Given the description of an element on the screen output the (x, y) to click on. 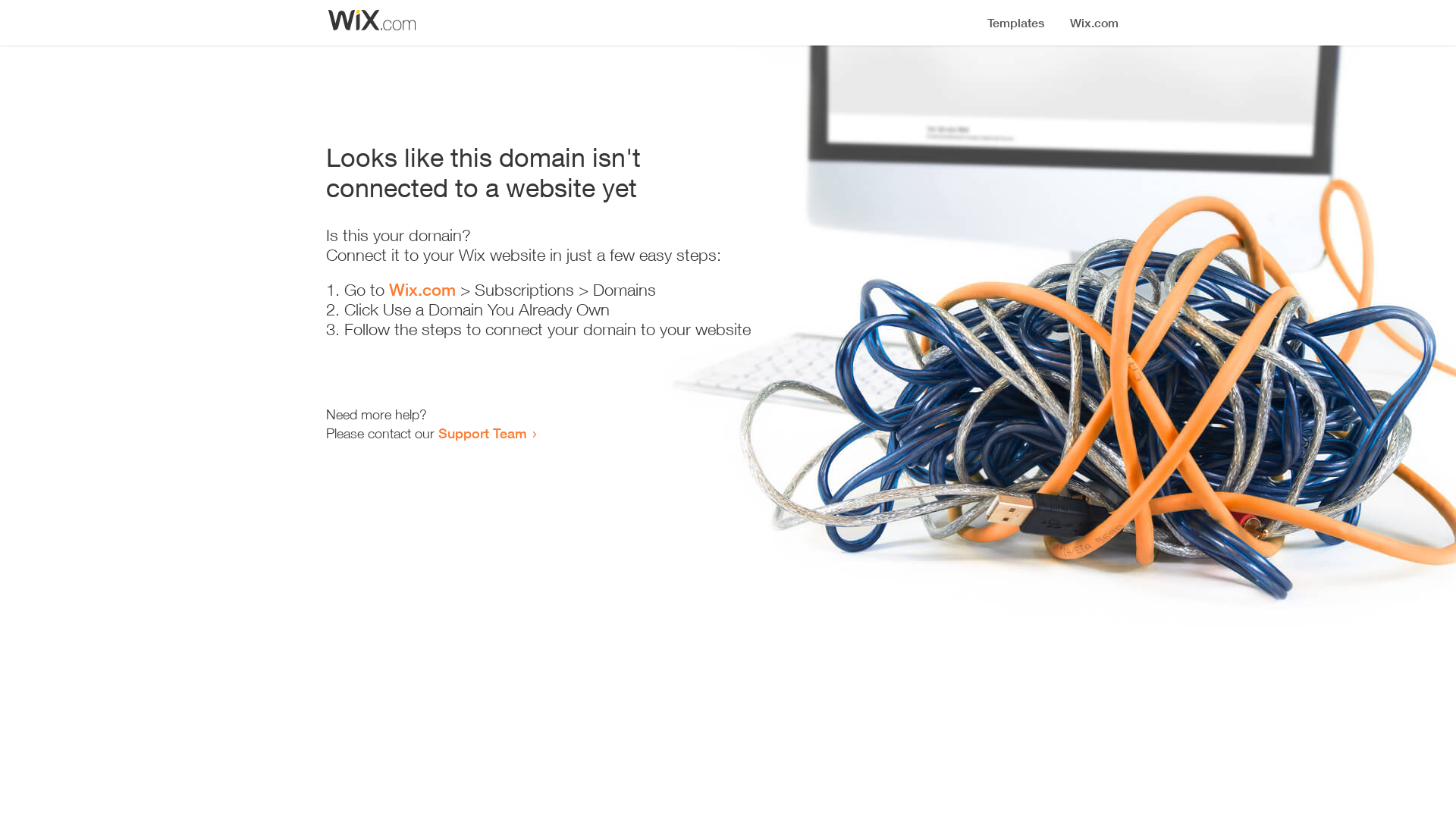
Support Team Element type: text (482, 432)
Wix.com Element type: text (422, 289)
